Given the description of an element on the screen output the (x, y) to click on. 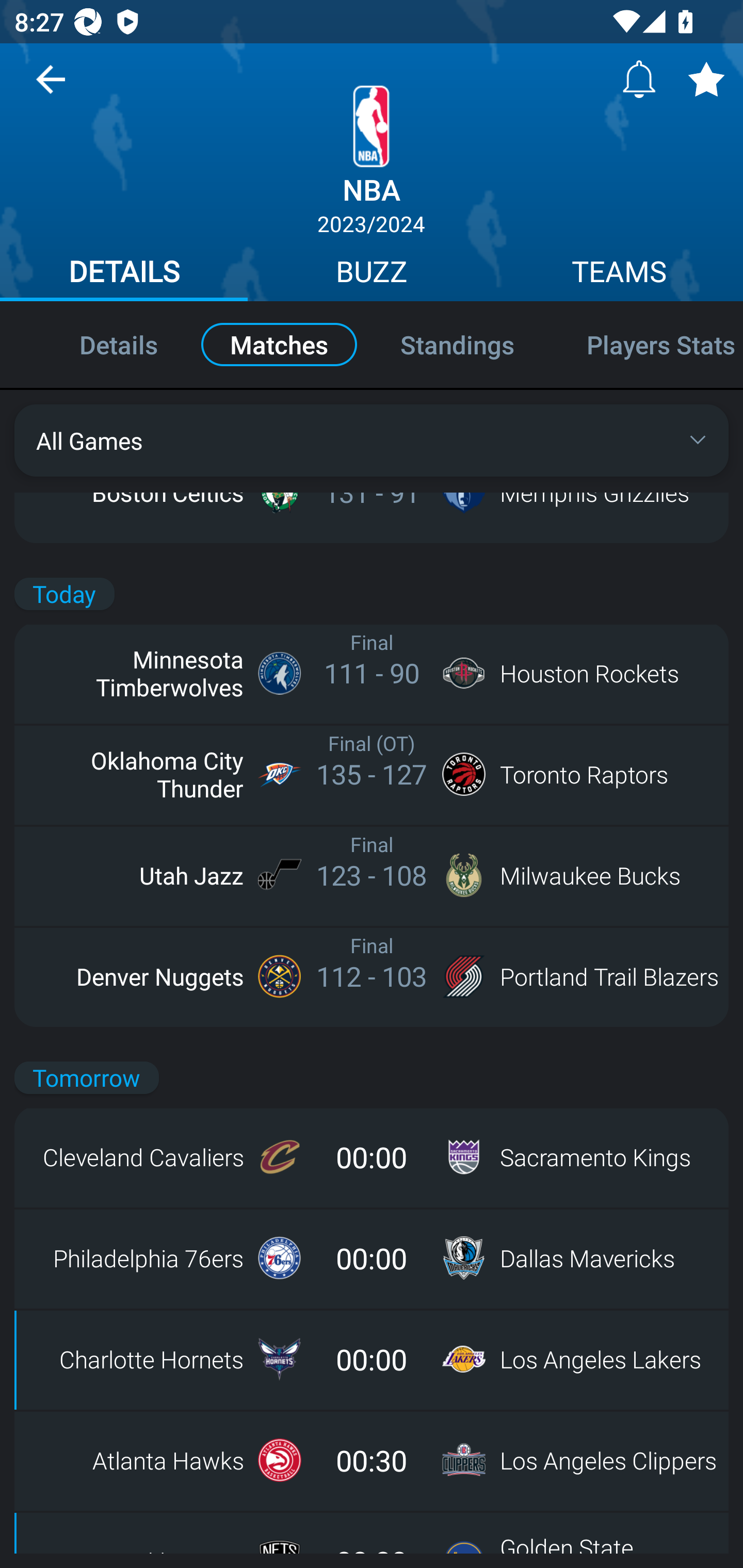
Navigate up (50, 86)
DETAILS (123, 274)
BUZZ (371, 274)
TEAMS (619, 274)
Details (96, 344)
Standings (457, 344)
Players Stats (646, 344)
All Games (371, 440)
Utah Jazz Final 123 - 108 Milwaukee Bucks (371, 874)
Cleveland Cavaliers 00:00 Sacramento Kings (371, 1157)
Philadelphia 76ers 00:00 Dallas Mavericks (371, 1258)
Charlotte Hornets 00:00 Los Angeles Lakers (371, 1359)
Atlanta Hawks 00:30 Los Angeles Clippers (371, 1459)
